Given the description of an element on the screen output the (x, y) to click on. 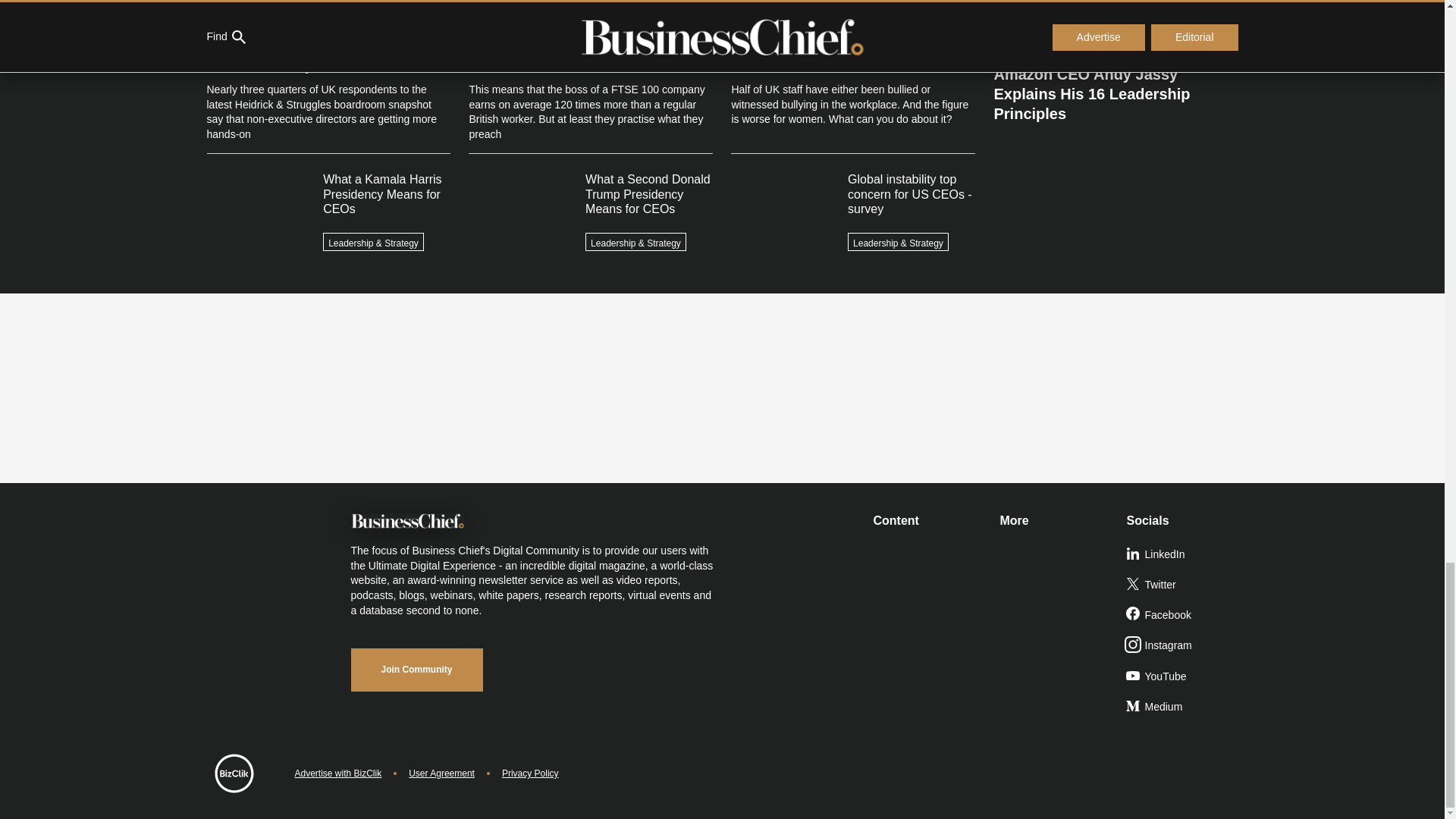
Join Community (415, 669)
LinkedIn (1182, 554)
Amazon CEO Andy Jassy Explains His 16 Leadership Principles (1114, 87)
